Given the description of an element on the screen output the (x, y) to click on. 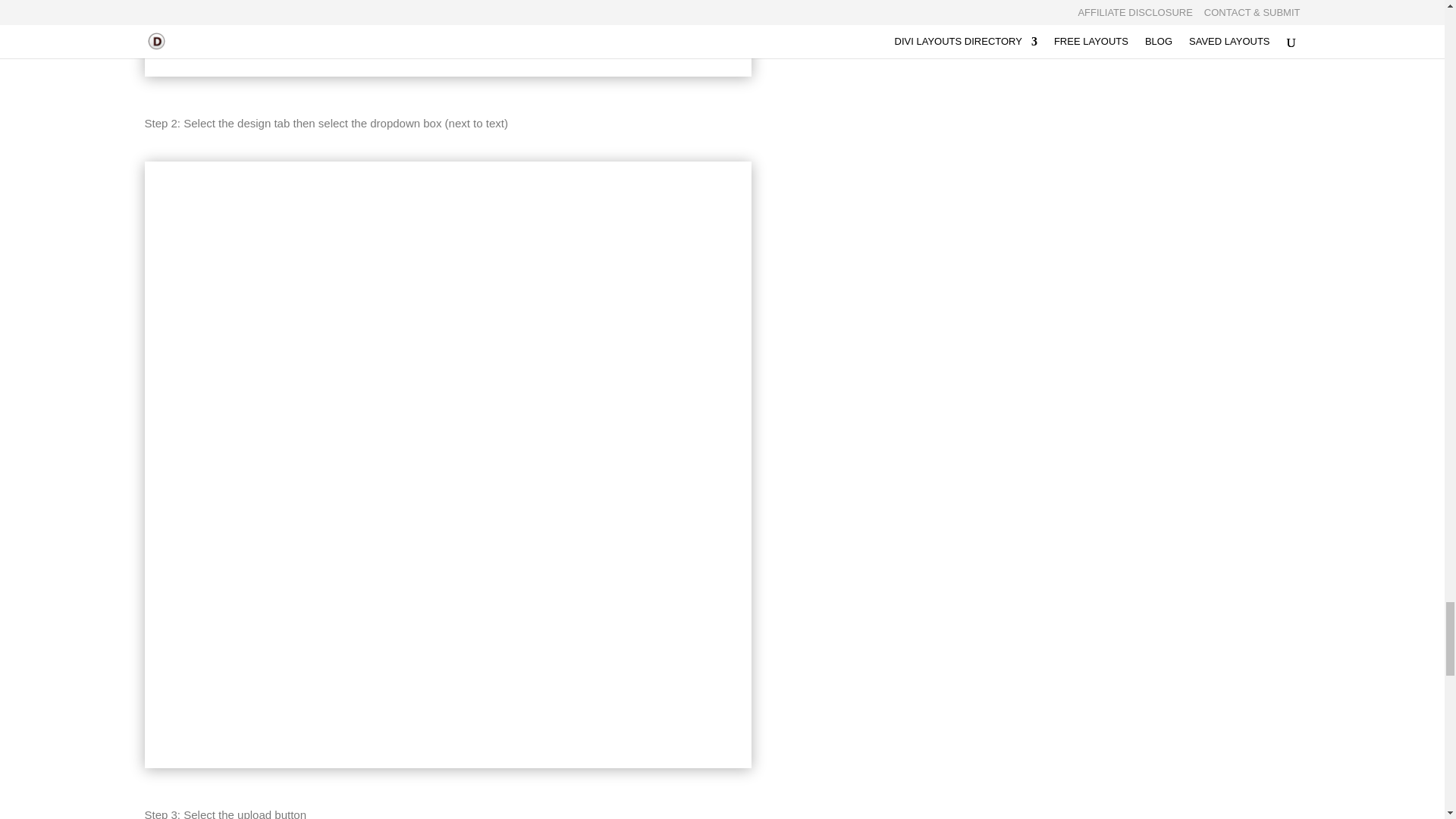
upload custom divi font (447, 38)
